Given the description of an element on the screen output the (x, y) to click on. 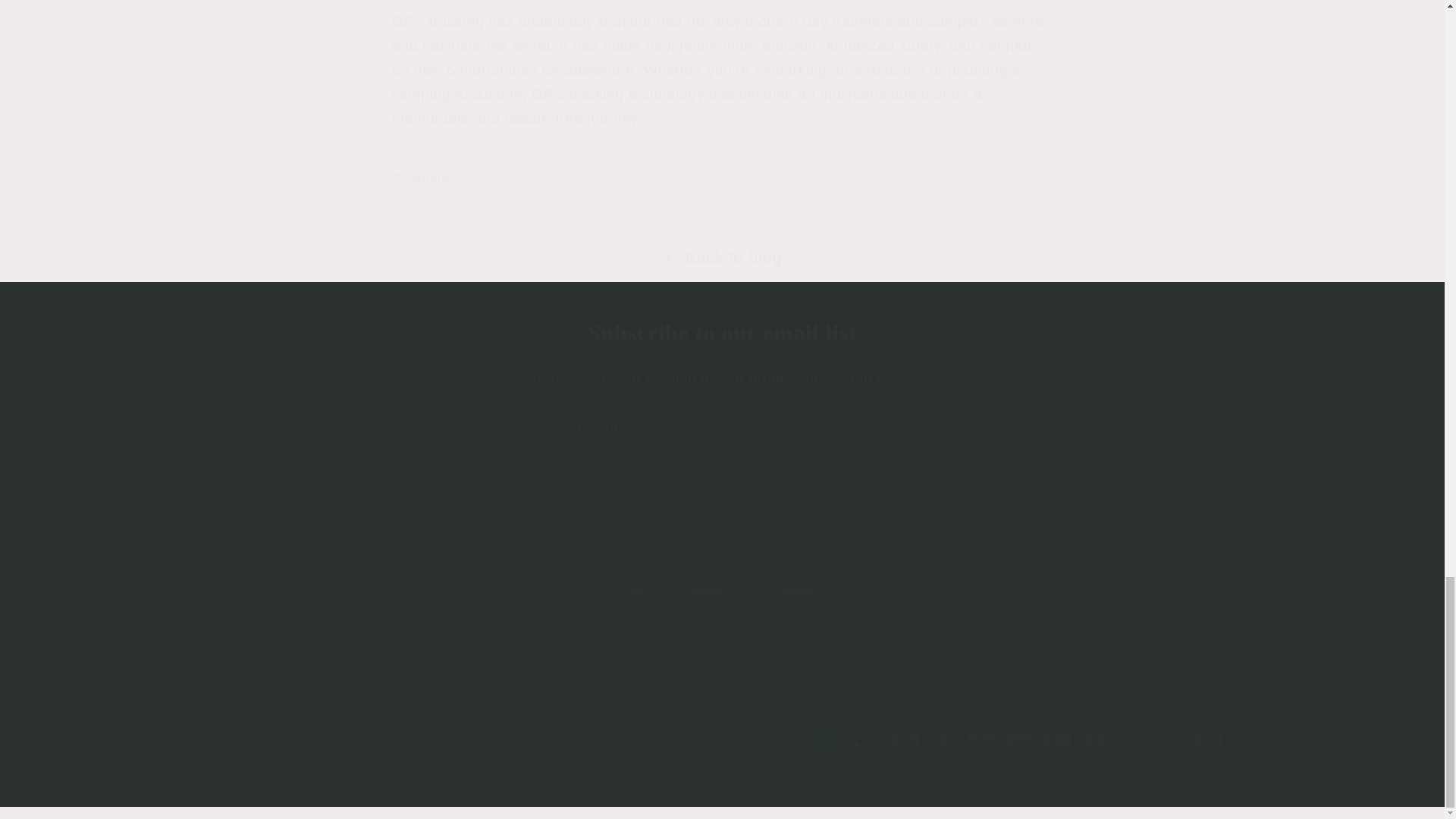
Share (721, 178)
Powered by Shopify (384, 809)
Coffeio Store (297, 809)
Sitemap (686, 557)
Email (721, 429)
Subscribe to our mailing list for product news and more. (722, 378)
Subscribe to our email list (721, 333)
Refund policy (721, 534)
About us (487, 810)
